Given the description of an element on the screen output the (x, y) to click on. 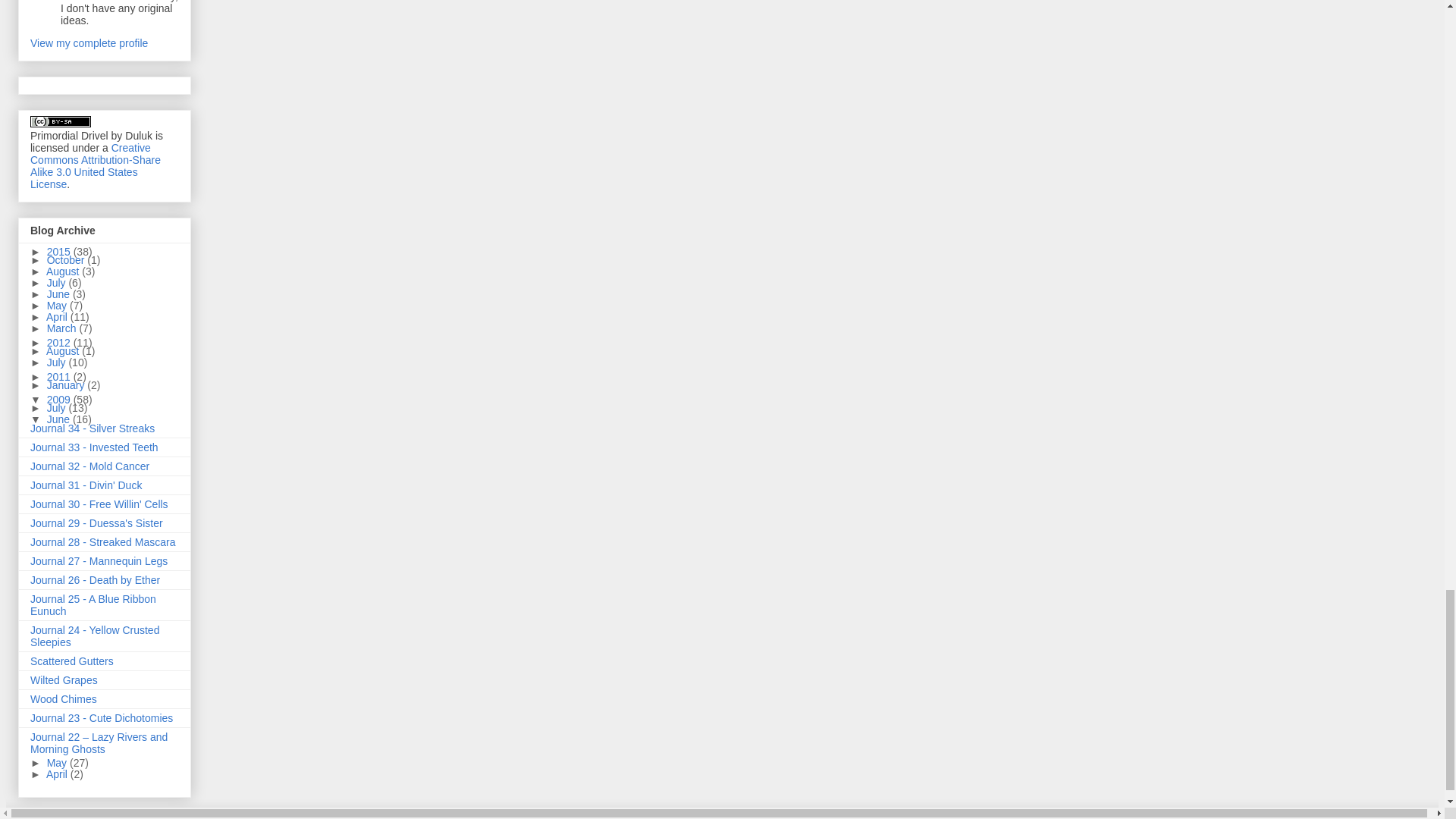
June (59, 294)
October (66, 259)
2015 (60, 251)
July (57, 282)
View my complete profile (89, 42)
August (63, 271)
